Given the description of an element on the screen output the (x, y) to click on. 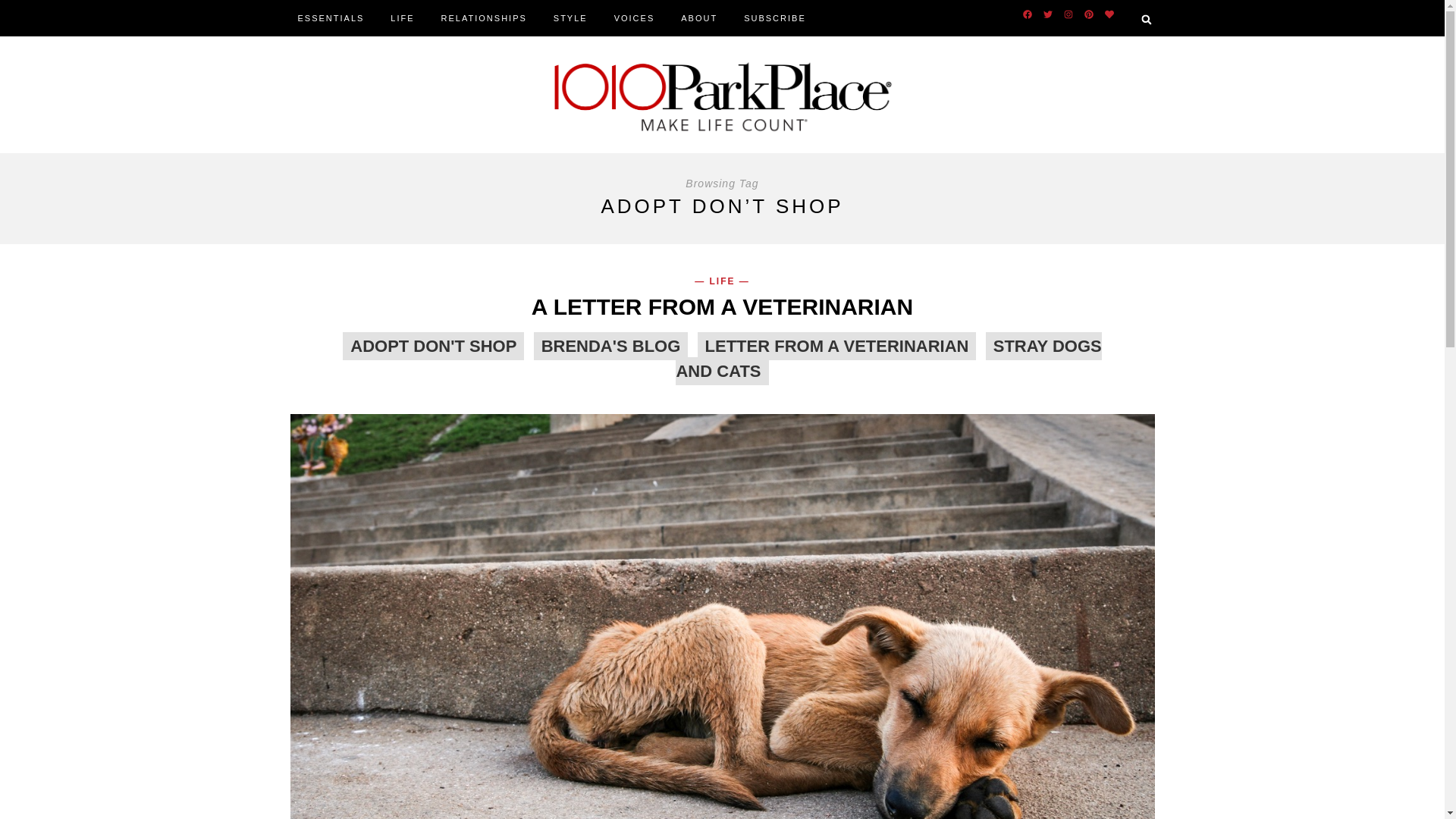
VOICES (638, 18)
ESSENTIALS (333, 18)
LIFE (405, 18)
STYLE (574, 18)
RELATIONSHIPS (487, 18)
